Given the description of an element on the screen output the (x, y) to click on. 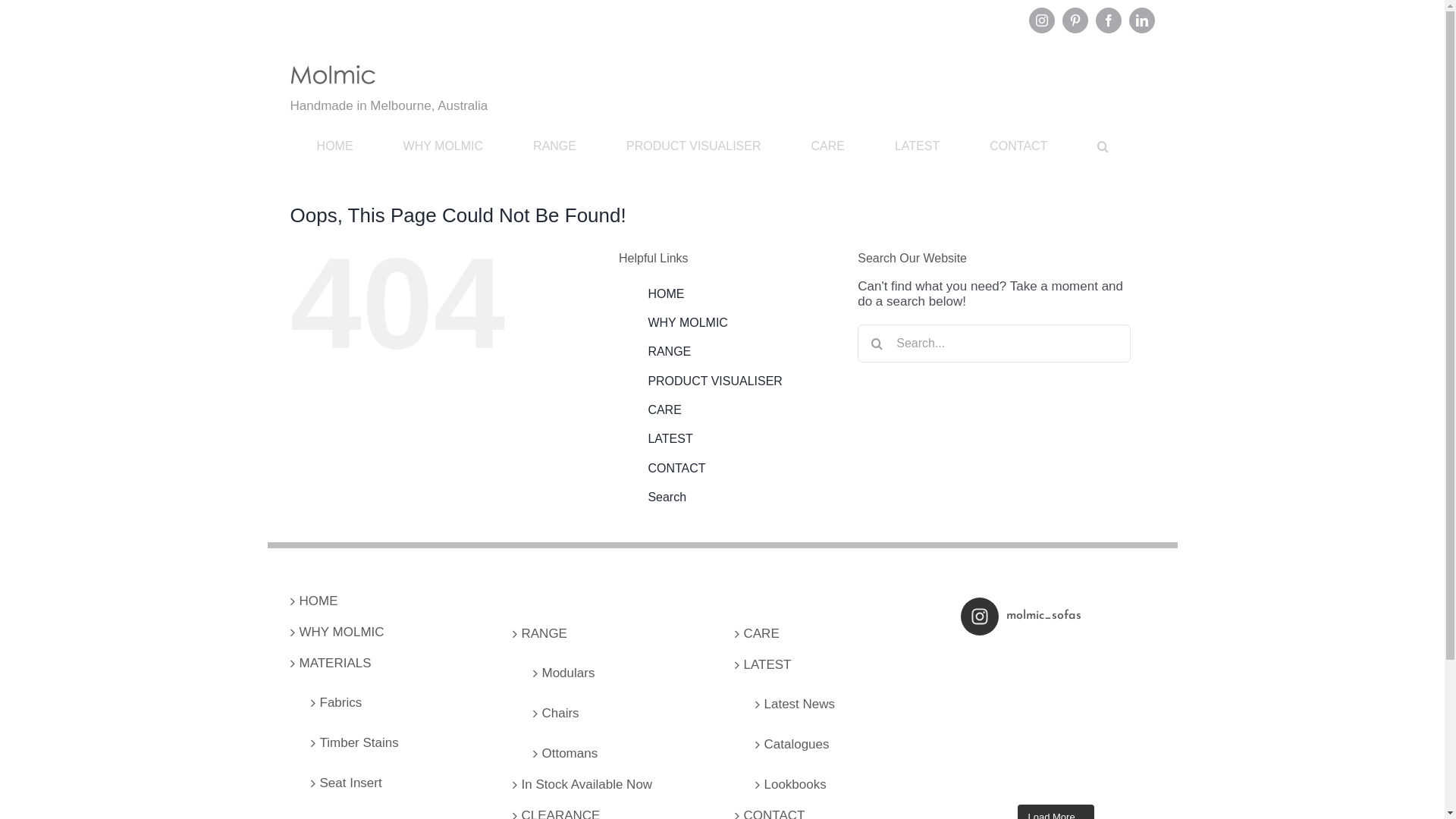
CARE Element type: text (833, 633)
LATEST Element type: text (916, 146)
LATEST Element type: text (833, 664)
PRODUCT VISUALISER Element type: text (693, 146)
WHY MOLMIC Element type: text (389, 632)
CARE Element type: text (663, 409)
RANGE Element type: text (668, 351)
LATEST Element type: text (669, 438)
CONTACT Element type: text (1018, 146)
Facebook Element type: text (1107, 20)
HOME Element type: text (334, 146)
RANGE Element type: text (554, 146)
Pinterest Element type: text (1074, 20)
CARE Element type: text (827, 146)
Search Element type: text (666, 496)
Catalogues Element type: text (840, 740)
Latest News Element type: text (840, 699)
Lookbooks Element type: text (840, 780)
Modulars Element type: text (617, 668)
CONTACT Element type: text (676, 467)
molmic_sofas Element type: text (1055, 616)
HOME Element type: text (389, 600)
Fabrics Element type: text (396, 698)
LinkedIn Element type: text (1141, 20)
WHY MOLMIC Element type: text (687, 322)
MATERIALS Element type: text (389, 663)
Search Element type: hover (1103, 146)
HOME Element type: text (665, 293)
Instagram Element type: text (1041, 20)
WHY MOLMIC Element type: text (442, 146)
RANGE Element type: text (611, 633)
PRODUCT VISUALISER Element type: text (714, 380)
Seat Insert Element type: text (396, 778)
Chairs Element type: text (617, 708)
In Stock Available Now Element type: text (611, 784)
Ottomans Element type: text (617, 749)
Timber Stains Element type: text (396, 738)
